Given the description of an element on the screen output the (x, y) to click on. 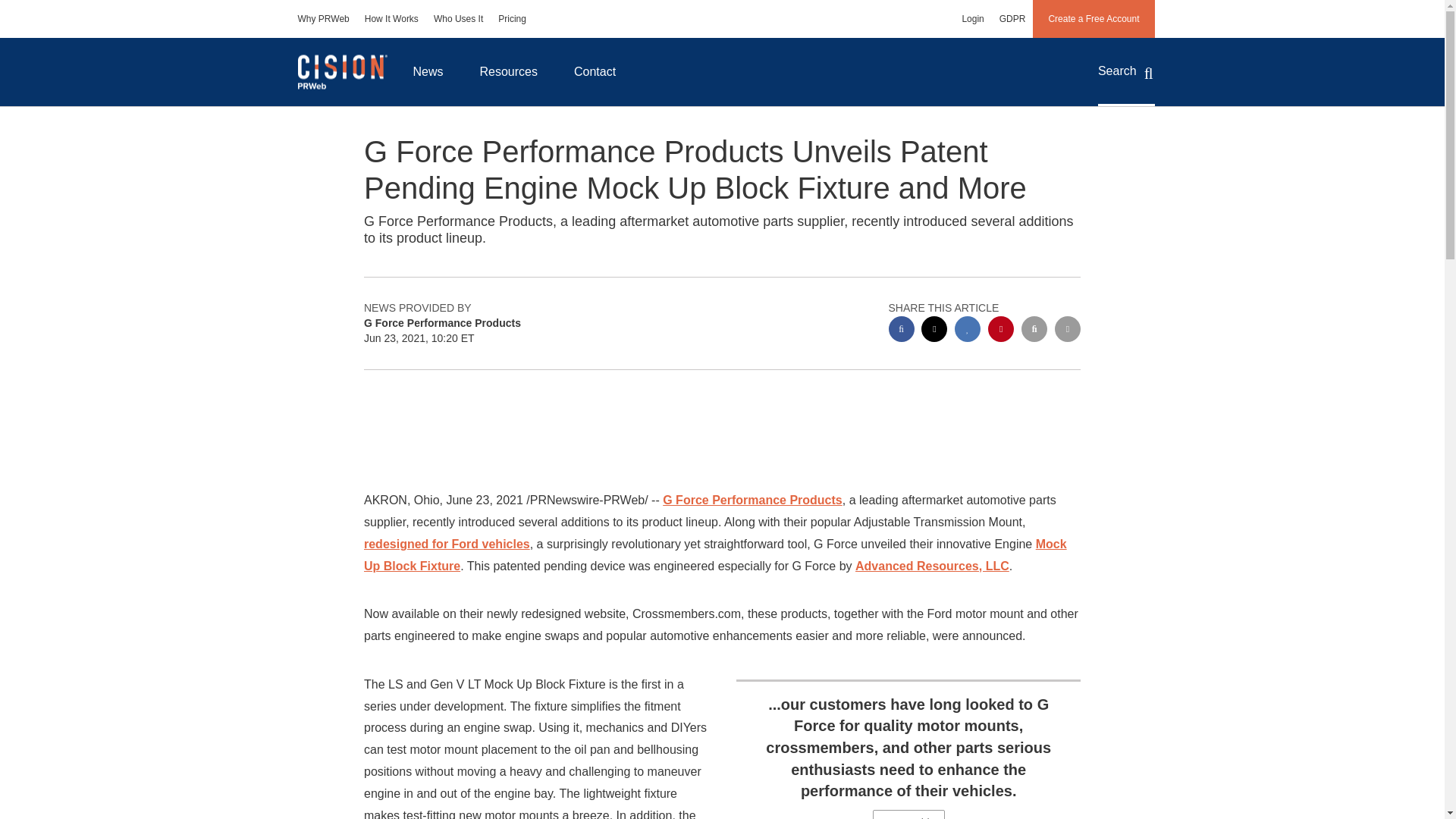
News (427, 71)
Create a Free Account (1093, 18)
Login (972, 18)
Contact (594, 71)
Who Uses It (458, 18)
Pricing (512, 18)
How It Works (391, 18)
Resources (508, 71)
GDPR (1012, 18)
